Given the description of an element on the screen output the (x, y) to click on. 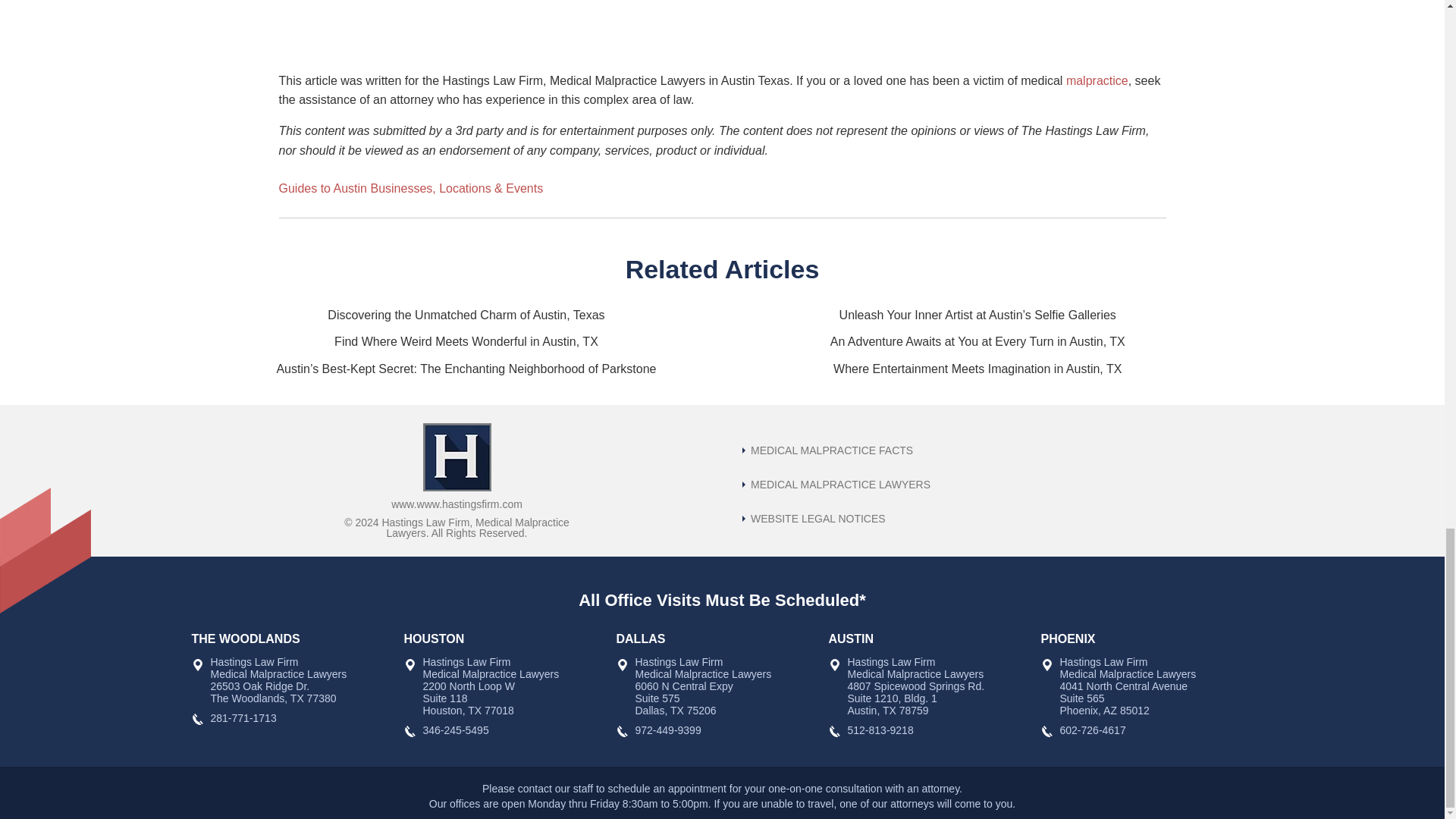
Hastings Law Firm Small Logo (457, 457)
Discovering the Unmatched Charm of Austin, Texas (465, 314)
malpractice (1096, 80)
281-771-1713 (243, 717)
Discovering the Unmatched Charm of Austin, Texas (465, 314)
602-726-4617 (1092, 729)
Find Where Weird Meets Wonderful in Austin, TX (466, 341)
An Adventure Awaits at You at Every Turn in Austin, TX (977, 341)
WEBSITE LEGAL NOTICES (813, 518)
Texas Medical Malpractice Occurrences (827, 450)
